Given the description of an element on the screen output the (x, y) to click on. 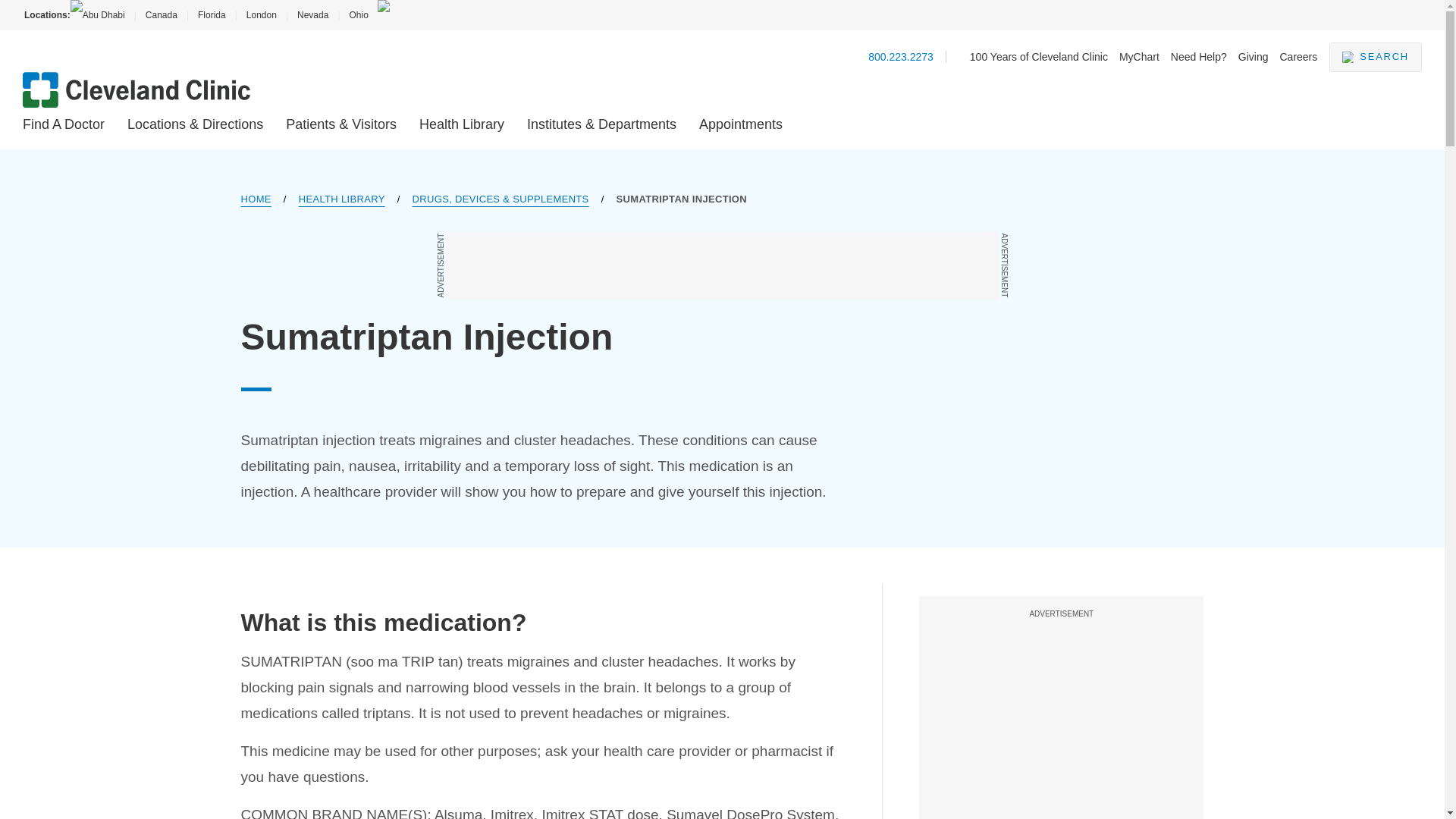
Florida (211, 15)
Find A Doctor (63, 124)
HEALTH LIBRARY (341, 198)
London (261, 15)
Canada (161, 15)
MyChart (1138, 56)
SEARCH (1375, 57)
Need Help? (1198, 56)
800.223.2273 (900, 56)
100 Years of Cleveland Clinic (1038, 56)
Appointments (740, 124)
Careers (1298, 56)
Ohio (358, 15)
Giving (1253, 56)
HOME (255, 198)
